Given the description of an element on the screen output the (x, y) to click on. 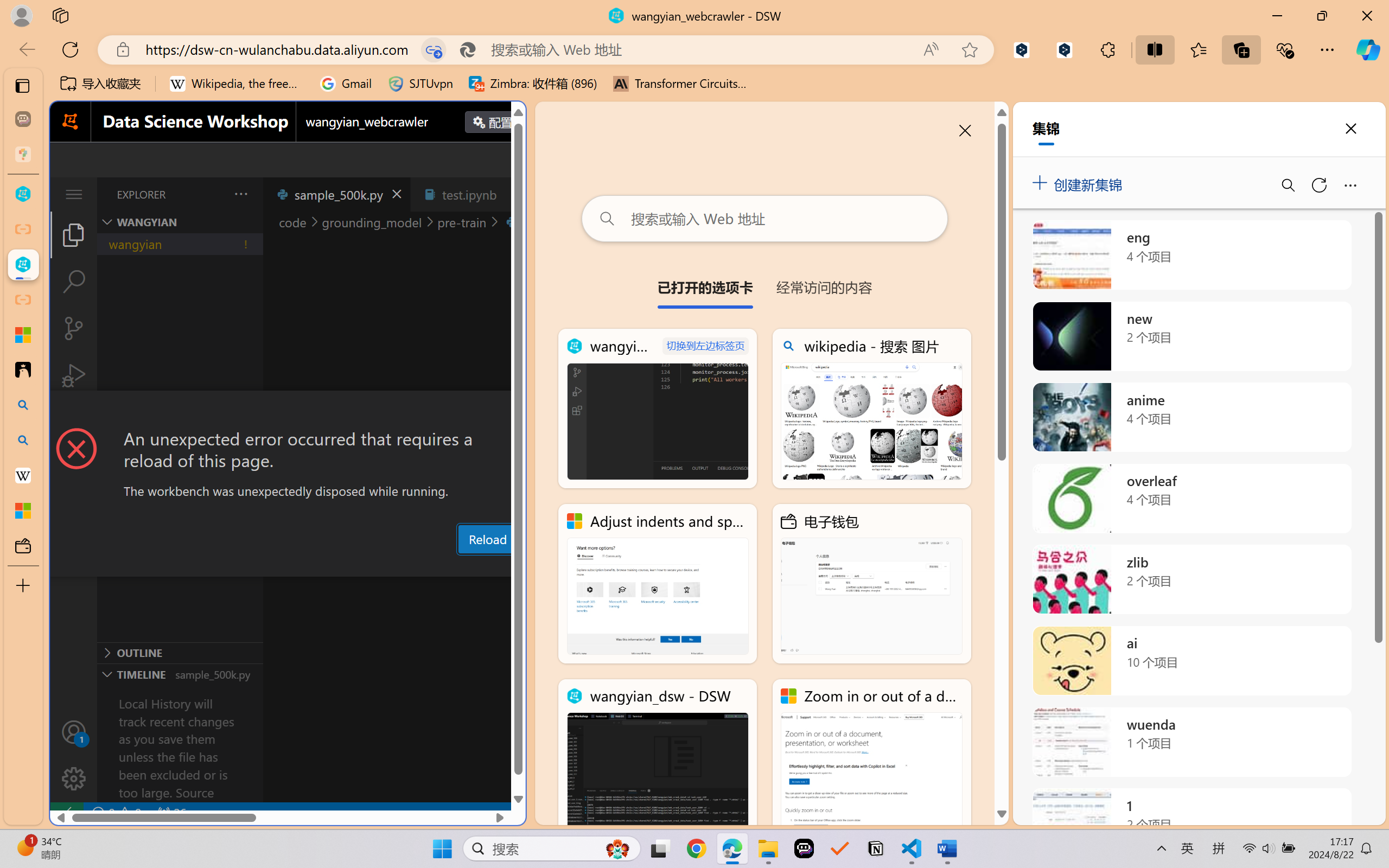
Class: actions-container (287, 410)
Run and Debug (Ctrl+Shift+D) (73, 375)
wangyian_webcrawler - DSW (657, 408)
